Given the description of an element on the screen output the (x, y) to click on. 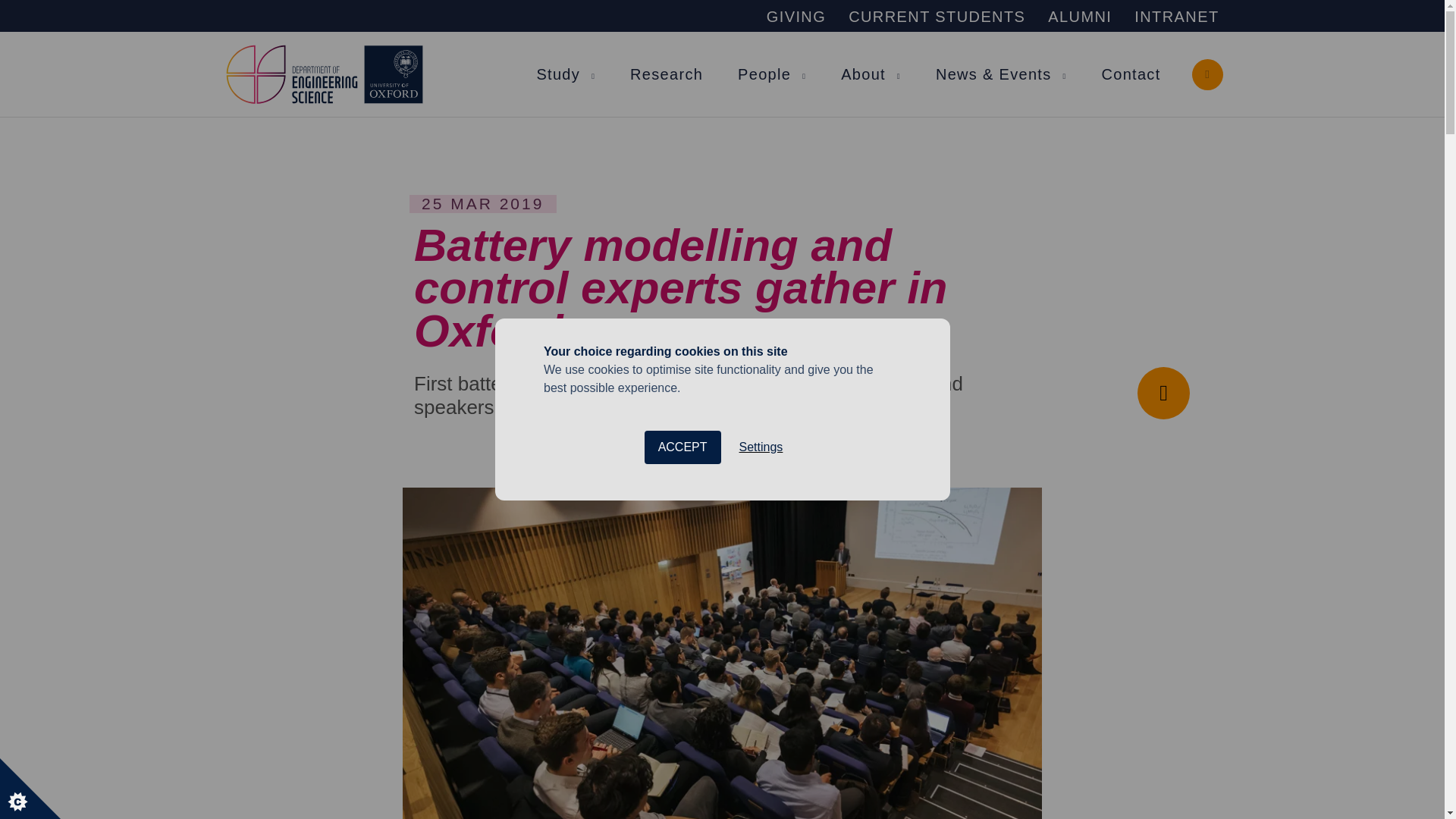
ACCEPT (681, 671)
About (863, 73)
People (764, 73)
Settings (760, 660)
Study (557, 73)
INTRANET (1176, 17)
GIVING (796, 17)
ALUMNI (1080, 17)
Research (666, 73)
CURRENT STUDENTS (936, 17)
